Given the description of an element on the screen output the (x, y) to click on. 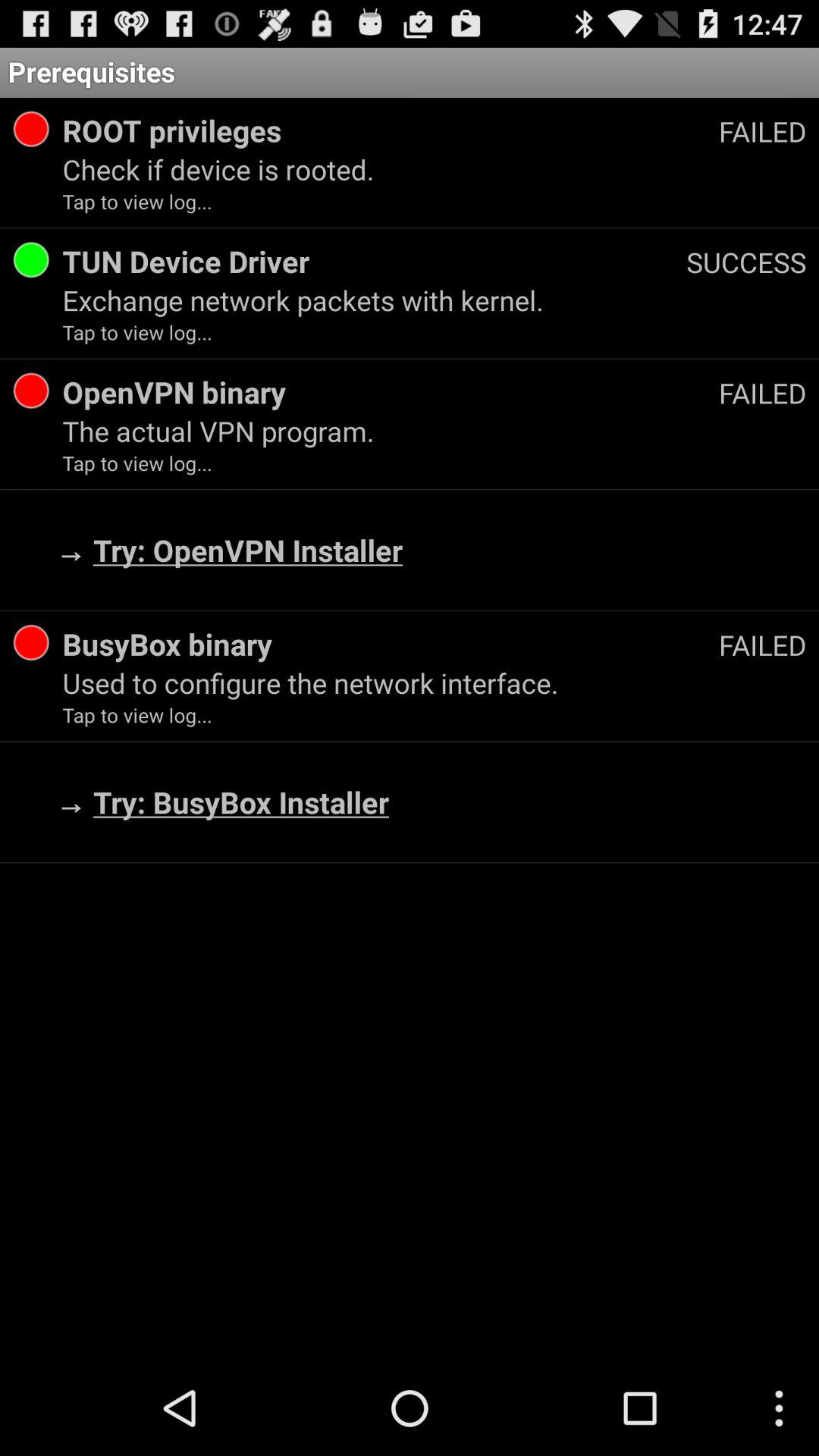
swipe to the root privileges item (390, 130)
